Given the description of an element on the screen output the (x, y) to click on. 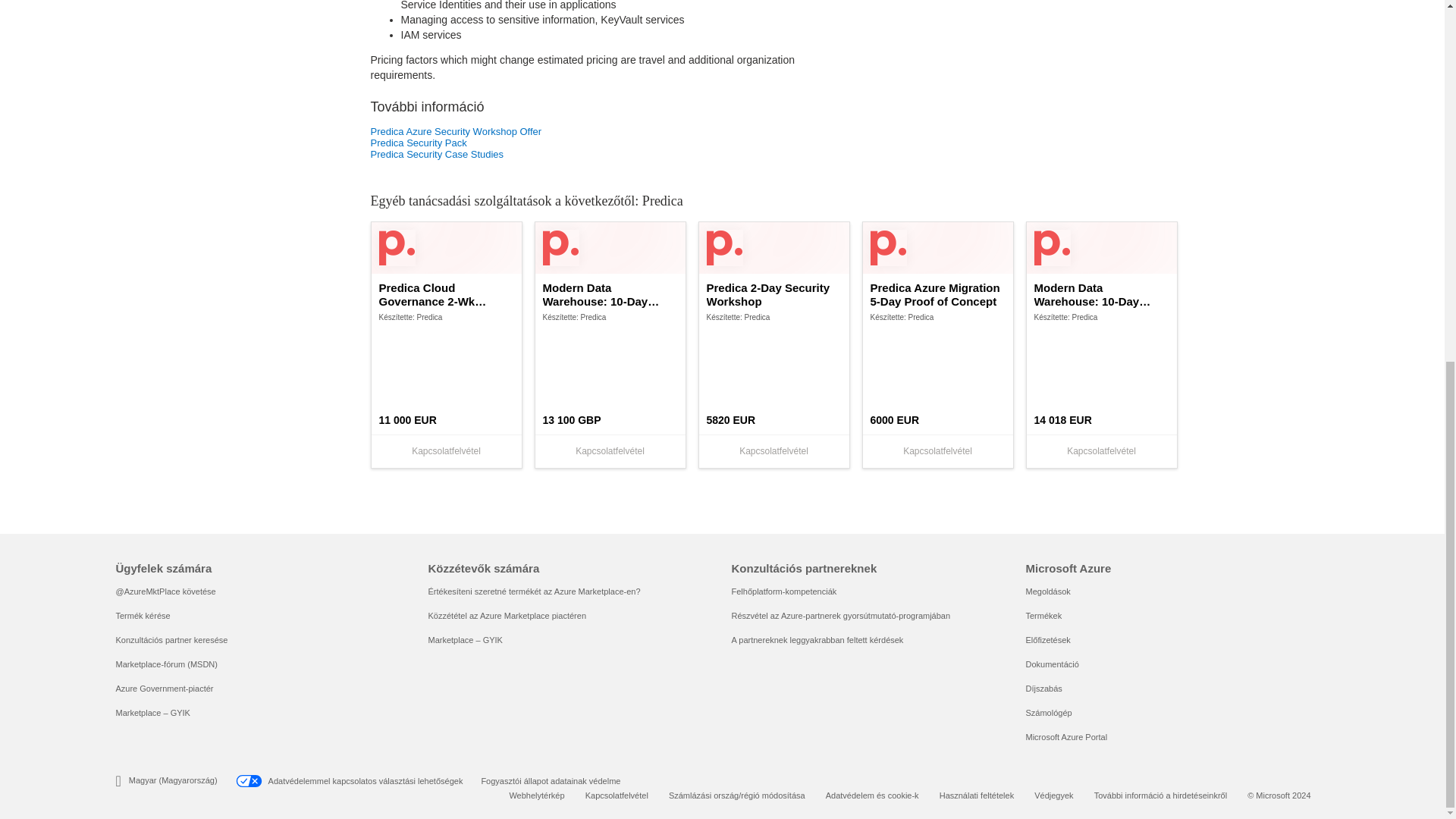
Modern Data Warehouse: 10-Day Assessment (1101, 294)
Predica Cloud Governance 2-Wk Workshop (445, 294)
Modern Data Warehouse: 10-Day Assessment (610, 294)
Predica Azure Migration 5-Day Proof of Concept (938, 294)
Predica 2-Day Security Workshop (773, 294)
